Given the description of an element on the screen output the (x, y) to click on. 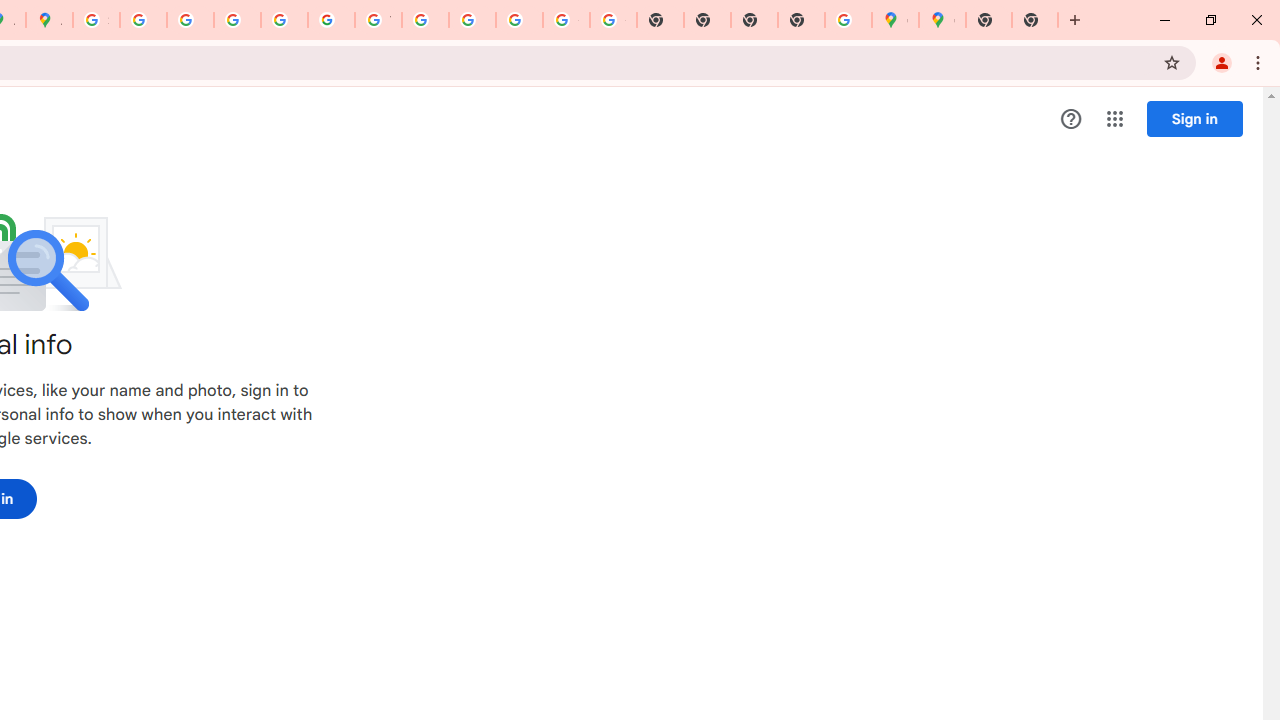
YouTube (377, 20)
Privacy Help Center - Policies Help (189, 20)
Use Google Maps in Space - Google Maps Help (848, 20)
New Tab (989, 20)
